Given the description of an element on the screen output the (x, y) to click on. 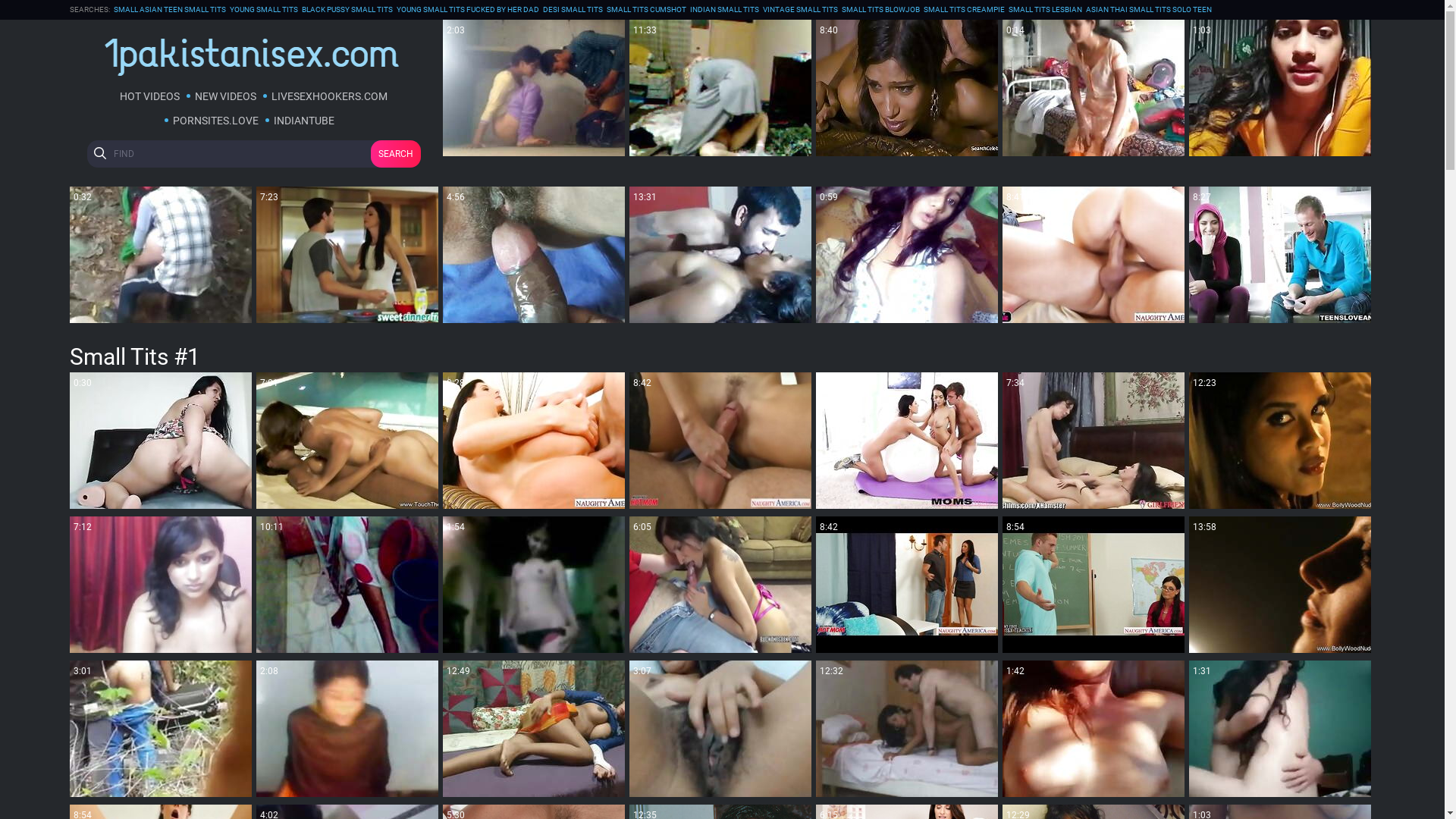
7:01 Element type: text (347, 440)
SEARCH Element type: text (395, 153)
1:42 Element type: text (1093, 728)
13:31 Element type: text (720, 254)
SMALL TITS CUMSHOT Element type: text (646, 9)
8:41 Element type: text (1093, 254)
1:31 Element type: text (1280, 728)
PORNSITES.LOVE Element type: text (215, 120)
YOUNG SMALL TITS FUCKED BY HER DAD Element type: text (466, 9)
10:11 Element type: text (347, 584)
INDIANTUBE Element type: text (304, 120)
0:30 Element type: text (160, 440)
7:12 Element type: text (160, 584)
16:13 Element type: text (906, 440)
2:08 Element type: text (347, 728)
SMALL TITS CREAMPIE Element type: text (963, 9)
8:27 Element type: text (1280, 254)
11:33 Element type: text (720, 87)
7:34 Element type: text (1093, 440)
8:54 Element type: text (1093, 584)
6:05 Element type: text (720, 584)
ASIAN THAI SMALL TITS SOLO TEEN Element type: text (1148, 9)
SMALL TITS BLOWJOB Element type: text (880, 9)
SMALL ASIAN TEEN SMALL TITS Element type: text (169, 9)
2:03 Element type: text (533, 87)
8:28 Element type: text (533, 440)
7:23 Element type: text (347, 254)
13:58 Element type: text (1280, 584)
LIVESEXHOOKERS.COM Element type: text (329, 96)
12:23 Element type: text (1280, 440)
HOT VIDEOS Element type: text (149, 96)
0:59 Element type: text (906, 254)
VINTAGE SMALL TITS Element type: text (799, 9)
8:42 Element type: text (720, 440)
4:56 Element type: text (533, 254)
0:32 Element type: text (160, 254)
3:07 Element type: text (720, 728)
YOUNG SMALL TITS Element type: text (263, 9)
1:54 Element type: text (533, 584)
1:03 Element type: text (1280, 87)
INDIAN SMALL TITS Element type: text (724, 9)
12:32 Element type: text (906, 728)
8:40 Element type: text (906, 87)
12:49 Element type: text (533, 728)
3:01 Element type: text (160, 728)
DESI SMALL TITS Element type: text (572, 9)
SMALL TITS LESBIAN Element type: text (1045, 9)
8:42 Element type: text (906, 584)
NEW VIDEOS Element type: text (225, 96)
0:14 Element type: text (1093, 87)
BLACK PUSSY SMALL TITS Element type: text (346, 9)
